Given the description of an element on the screen output the (x, y) to click on. 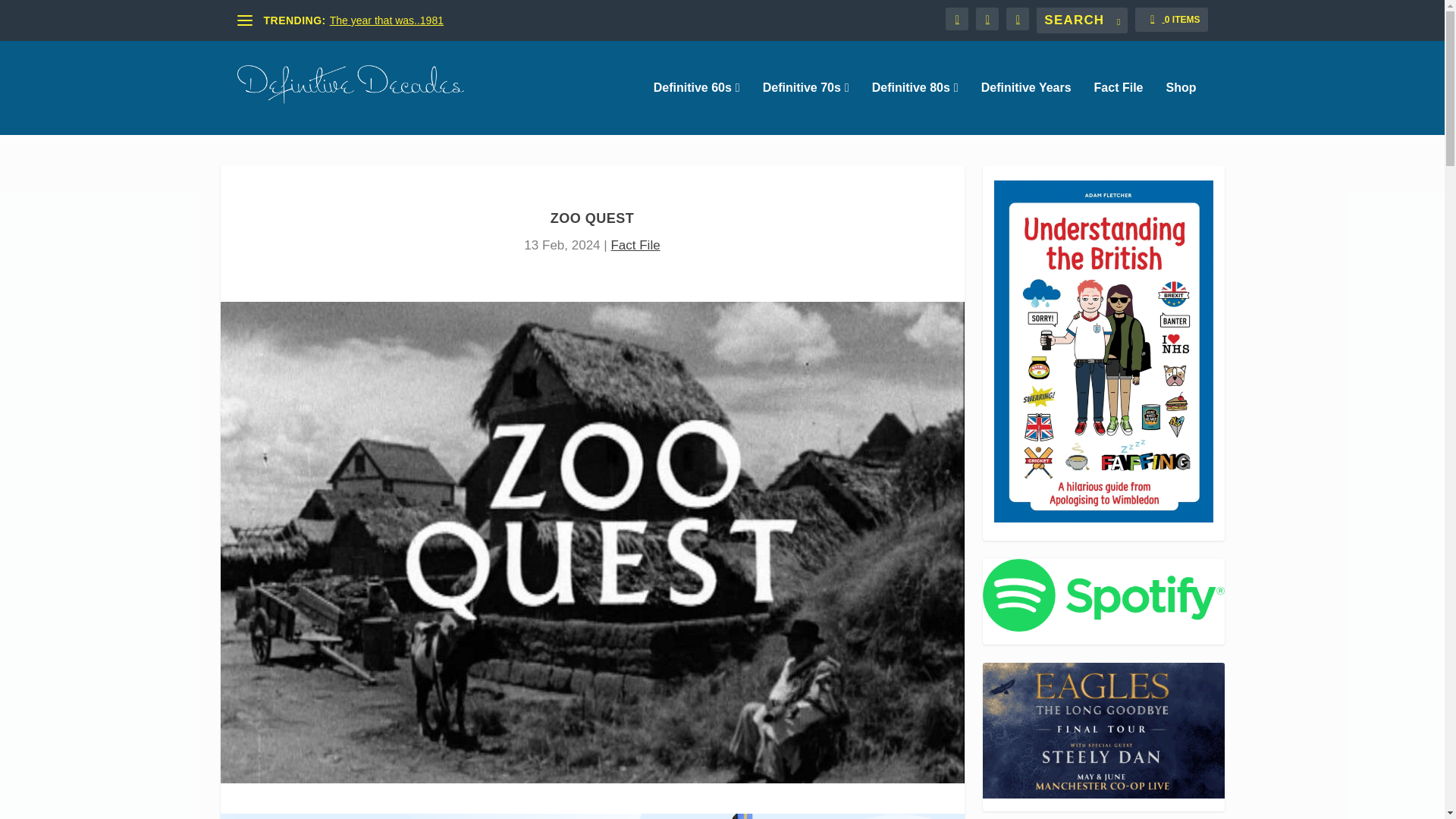
Fact File (1118, 108)
0 Items in Cart (1171, 19)
Definitive 60s (696, 108)
Definitive Years (1026, 108)
Definitive 70s (805, 108)
Search for: (1081, 20)
0 ITEMS (1171, 19)
The year that was..1981 (387, 20)
Definitive 80s (915, 108)
